Given the description of an element on the screen output the (x, y) to click on. 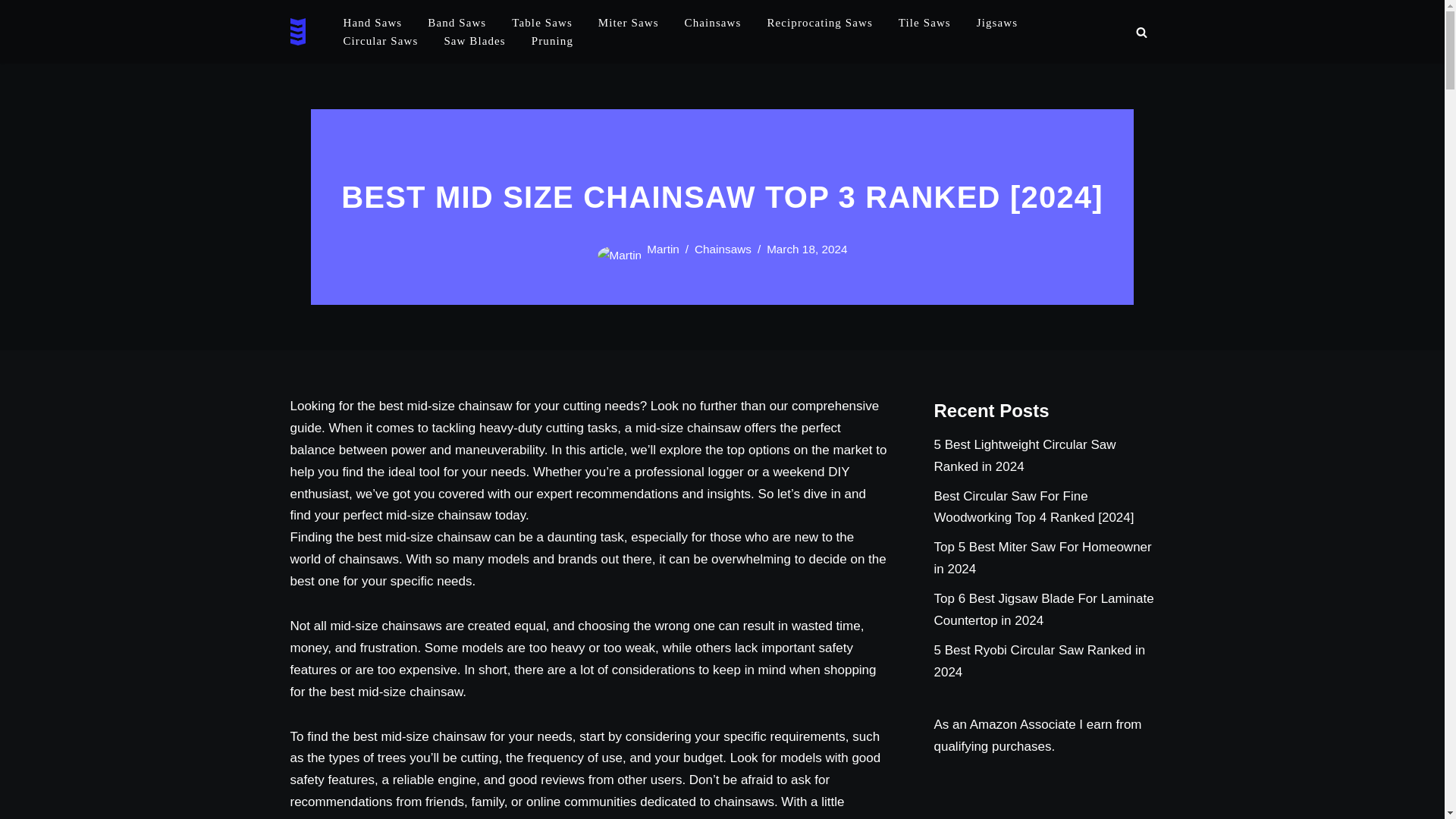
Jigsaws (996, 22)
Pruning (552, 40)
Miter Saws (628, 22)
Posts by Martin (662, 248)
Tile Saws (924, 22)
Reciprocating Saws (819, 22)
Chainsaws (722, 248)
Circular Saws (379, 40)
Chainsaws (712, 22)
5 Best Lightweight Circular Saw Ranked in 2024 (1025, 455)
